Given the description of an element on the screen output the (x, y) to click on. 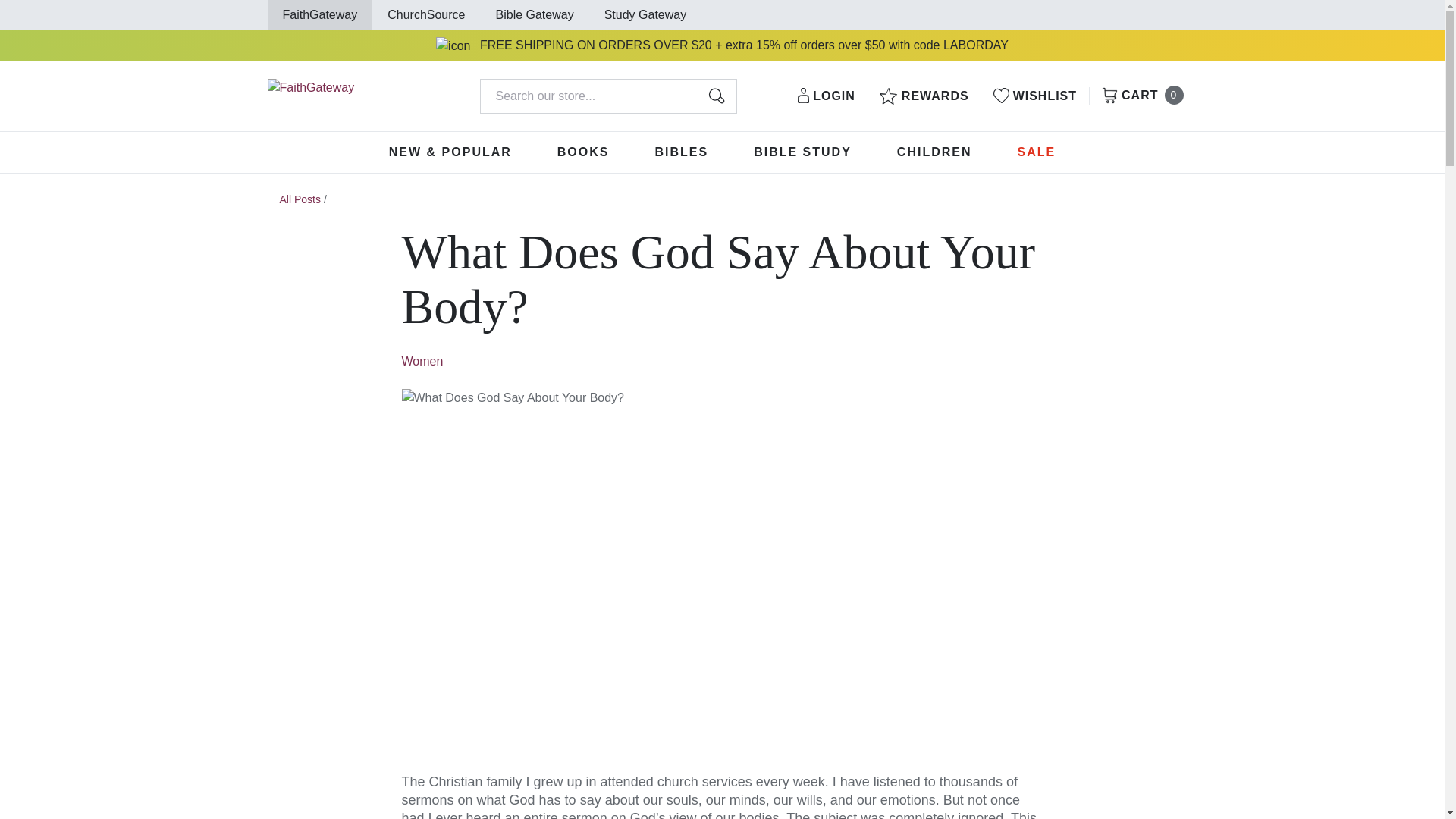
Study Gateway (645, 14)
Women (422, 360)
Search (716, 95)
ChurchSource (425, 14)
Reset (698, 95)
LOGIN (1139, 95)
REWARDS (826, 95)
Bible Gateway (924, 95)
WISHLIST (534, 14)
